Given the description of an element on the screen output the (x, y) to click on. 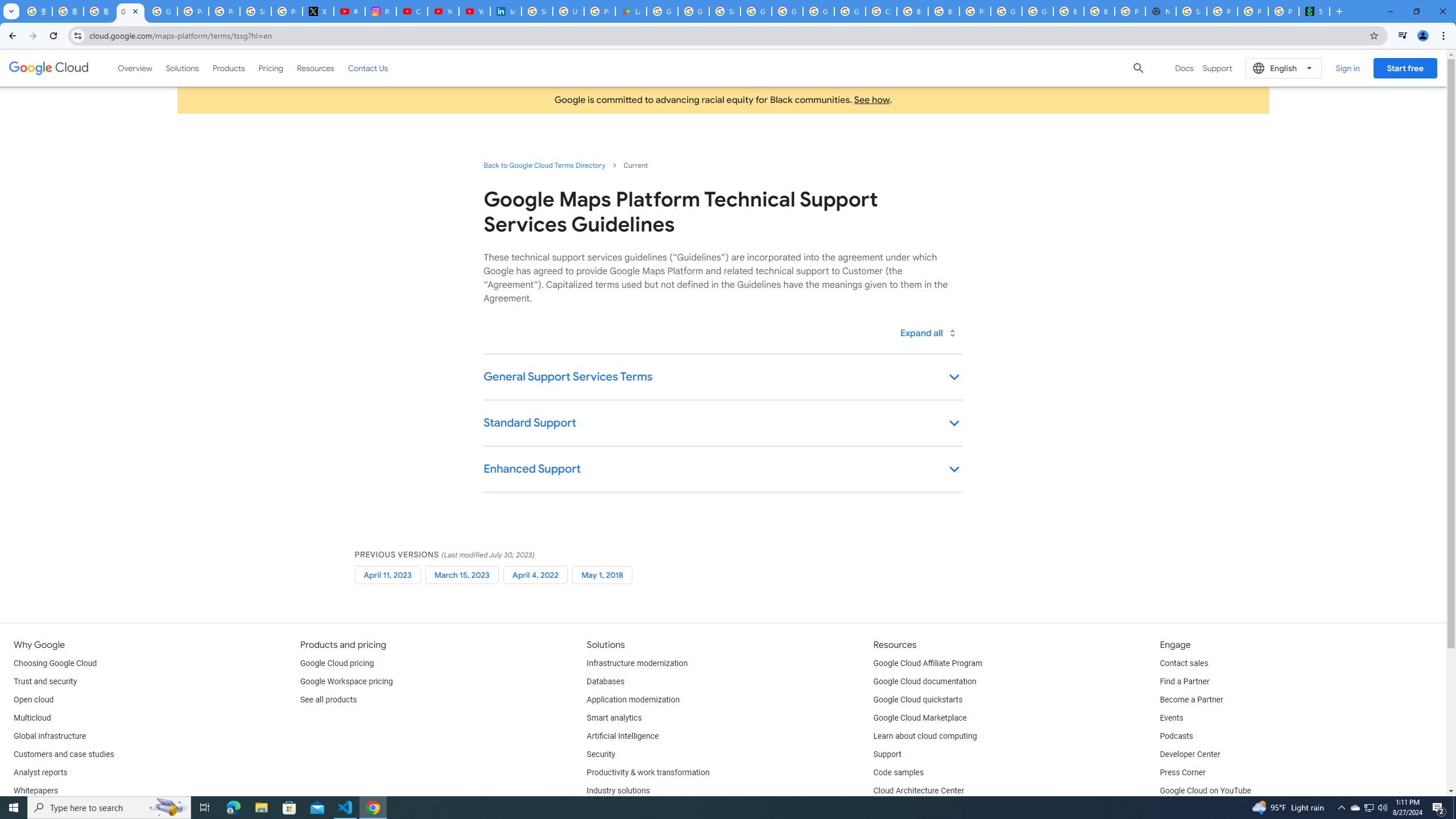
Privacy Help Center - Policies Help (223, 11)
Databases (605, 682)
Choosing Google Cloud (55, 663)
Security (600, 754)
Sign in - Google Accounts (255, 11)
Infrastructure modernization (637, 663)
Google Cloud Platform (1037, 11)
Back to Google Cloud Terms Directory (544, 165)
April 11, 2023 (386, 574)
Sign in - Google Accounts (724, 11)
Smart analytics (614, 718)
Browse Chrome as a guest - Computer - Google Chrome Help (1098, 11)
